Given the description of an element on the screen output the (x, y) to click on. 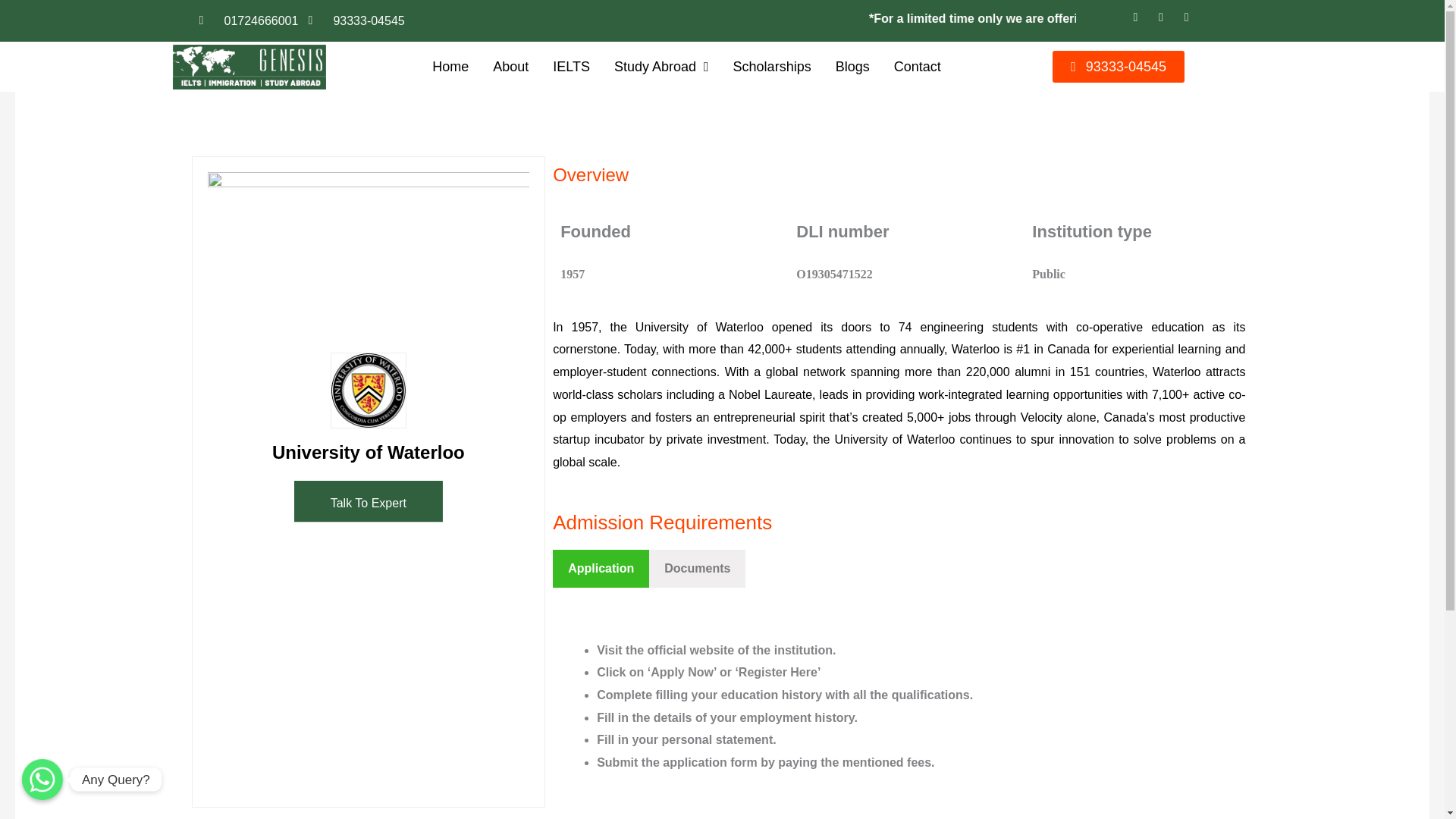
01724666001 (248, 20)
Contact (917, 66)
Study Abroad (661, 66)
Instagram (1189, 21)
Home (450, 66)
About (510, 66)
93333-04545 (355, 20)
IELTS (571, 66)
Twitter (1164, 21)
Blogs (853, 66)
